Given the description of an element on the screen output the (x, y) to click on. 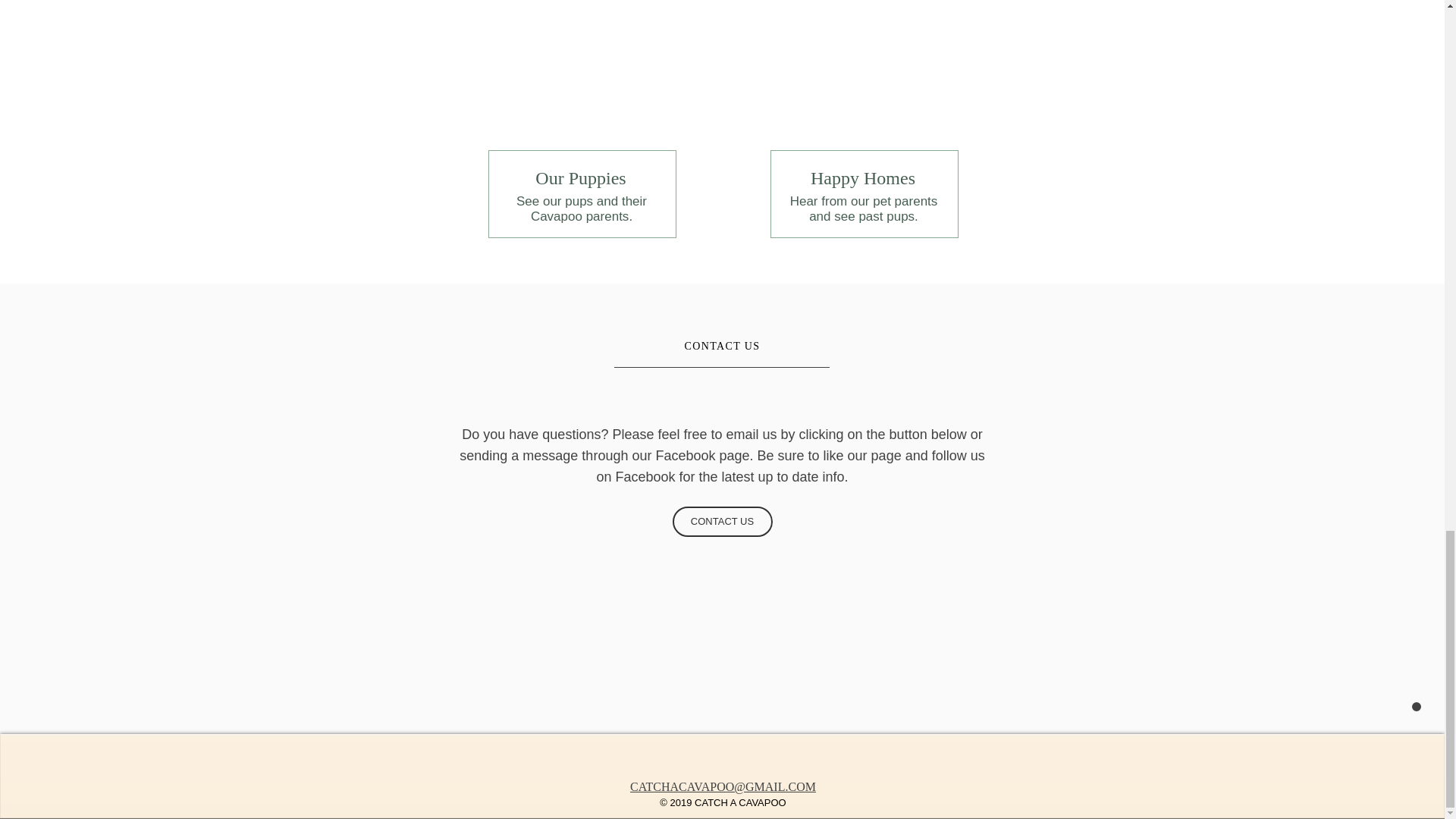
CONTACT US (721, 521)
